Given the description of an element on the screen output the (x, y) to click on. 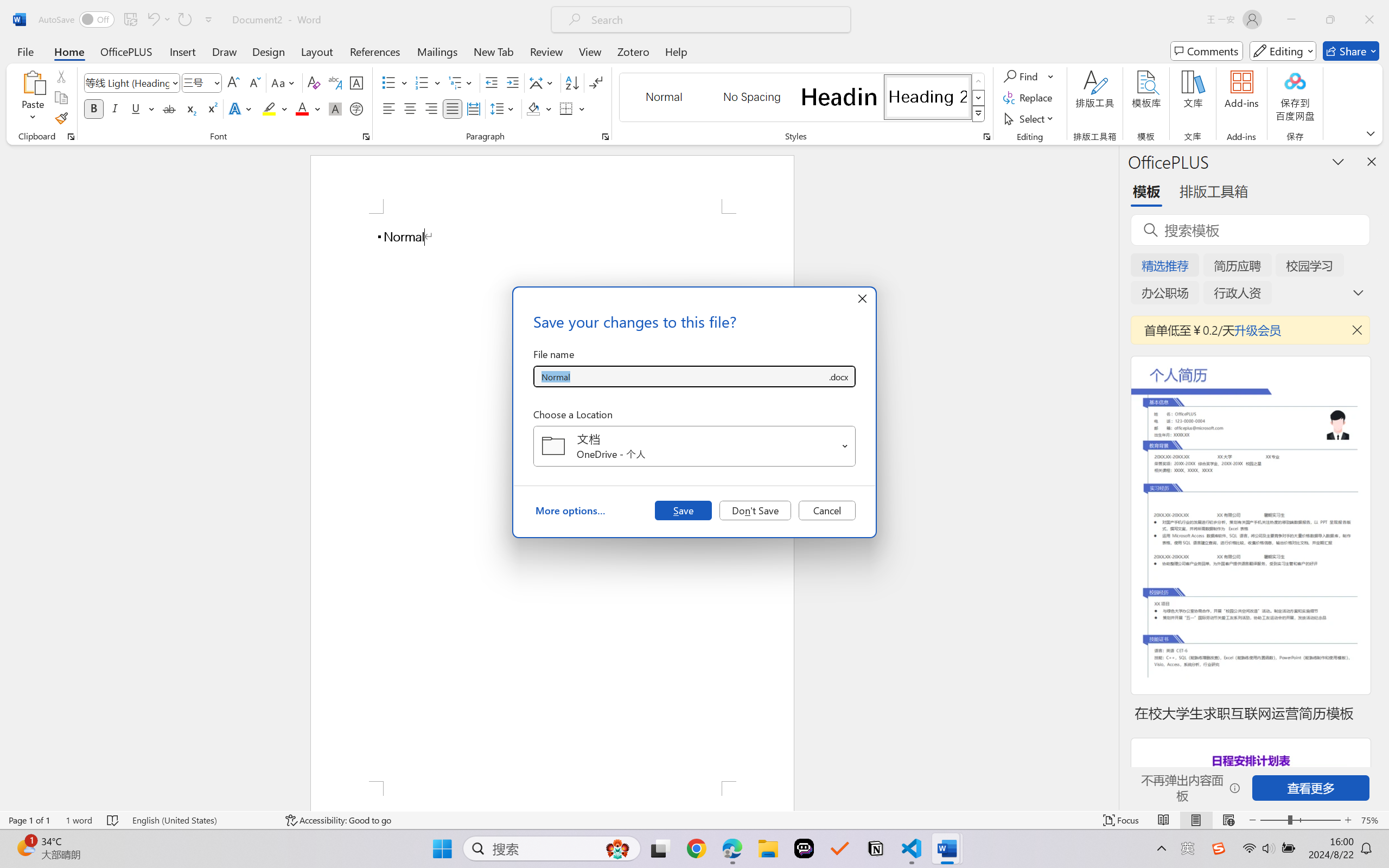
Sort... (571, 82)
Line and Paragraph Spacing (503, 108)
AutoSave (76, 19)
Paste (33, 81)
Insert (182, 51)
Show/Hide Editing Marks (595, 82)
Numbering (421, 82)
File name (680, 376)
Font Color (308, 108)
Quick Access Toolbar (127, 19)
Italic (115, 108)
